Given the description of an element on the screen output the (x, y) to click on. 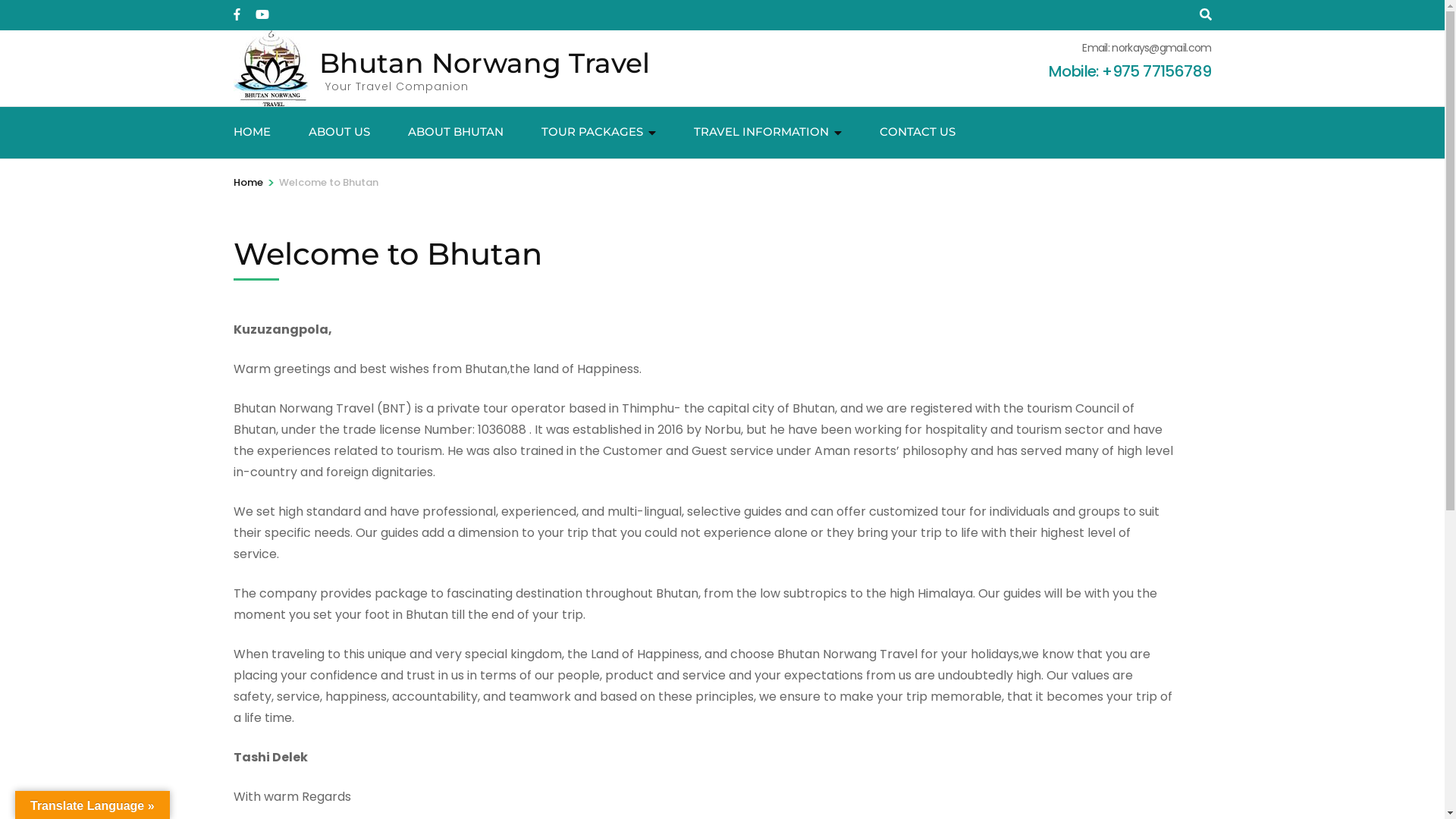
TOUR PACKAGES Element type: text (592, 132)
CONTACT US Element type: text (917, 132)
Bhutan Norwang Travel Element type: text (483, 61)
Skip to content (Press Enter) Element type: text (0, 0)
HOME Element type: text (251, 132)
ABOUT BHUTAN Element type: text (455, 132)
TRAVEL INFORMATION Element type: text (760, 132)
Mobile: +975 77156789 Element type: text (1129, 70)
Home Element type: text (248, 182)
ABOUT US Element type: text (338, 132)
Welcome to Bhutan Element type: text (328, 182)
